Given the description of an element on the screen output the (x, y) to click on. 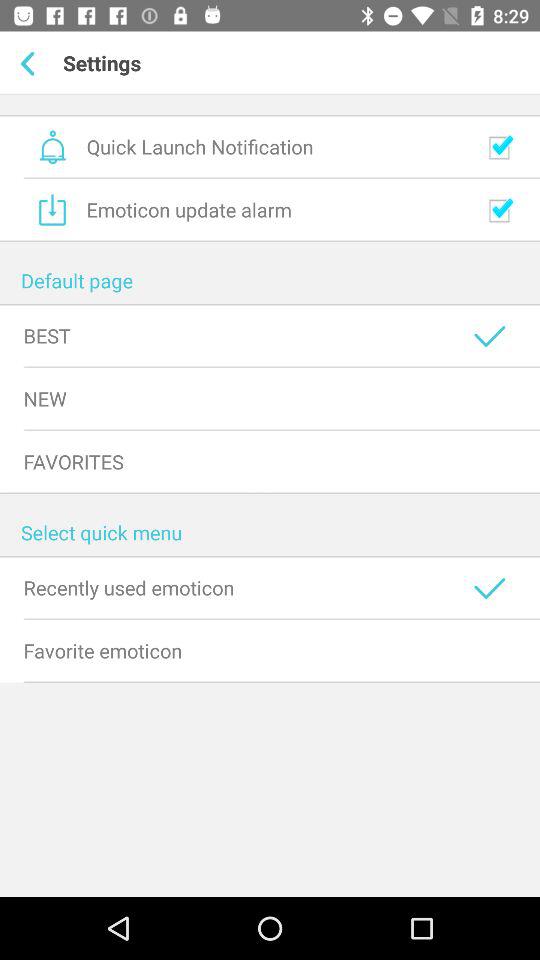
remove check (500, 210)
